Given the description of an element on the screen output the (x, y) to click on. 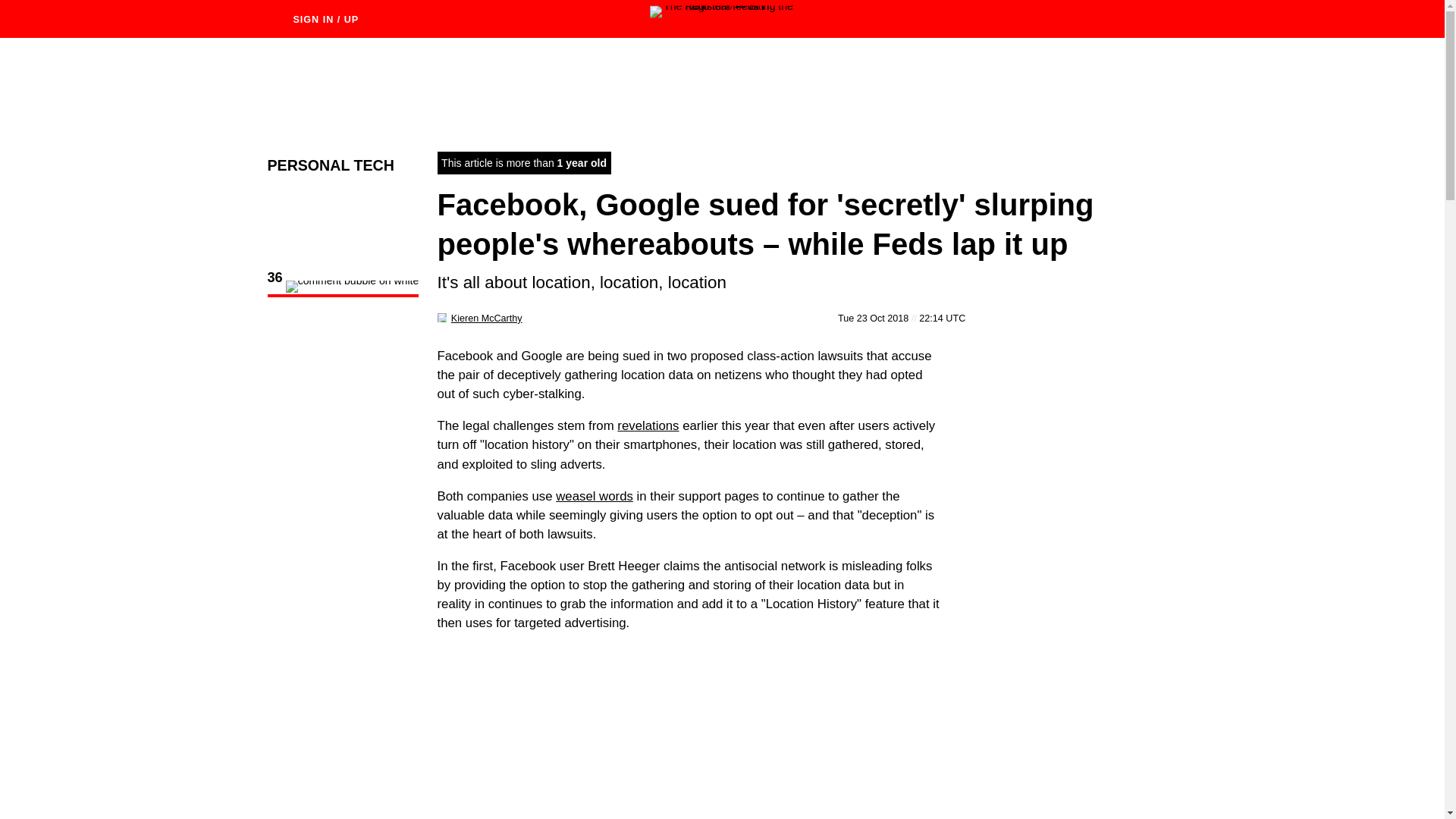
View comments on this article (342, 287)
Read more by this author (486, 318)
